Given the description of an element on the screen output the (x, y) to click on. 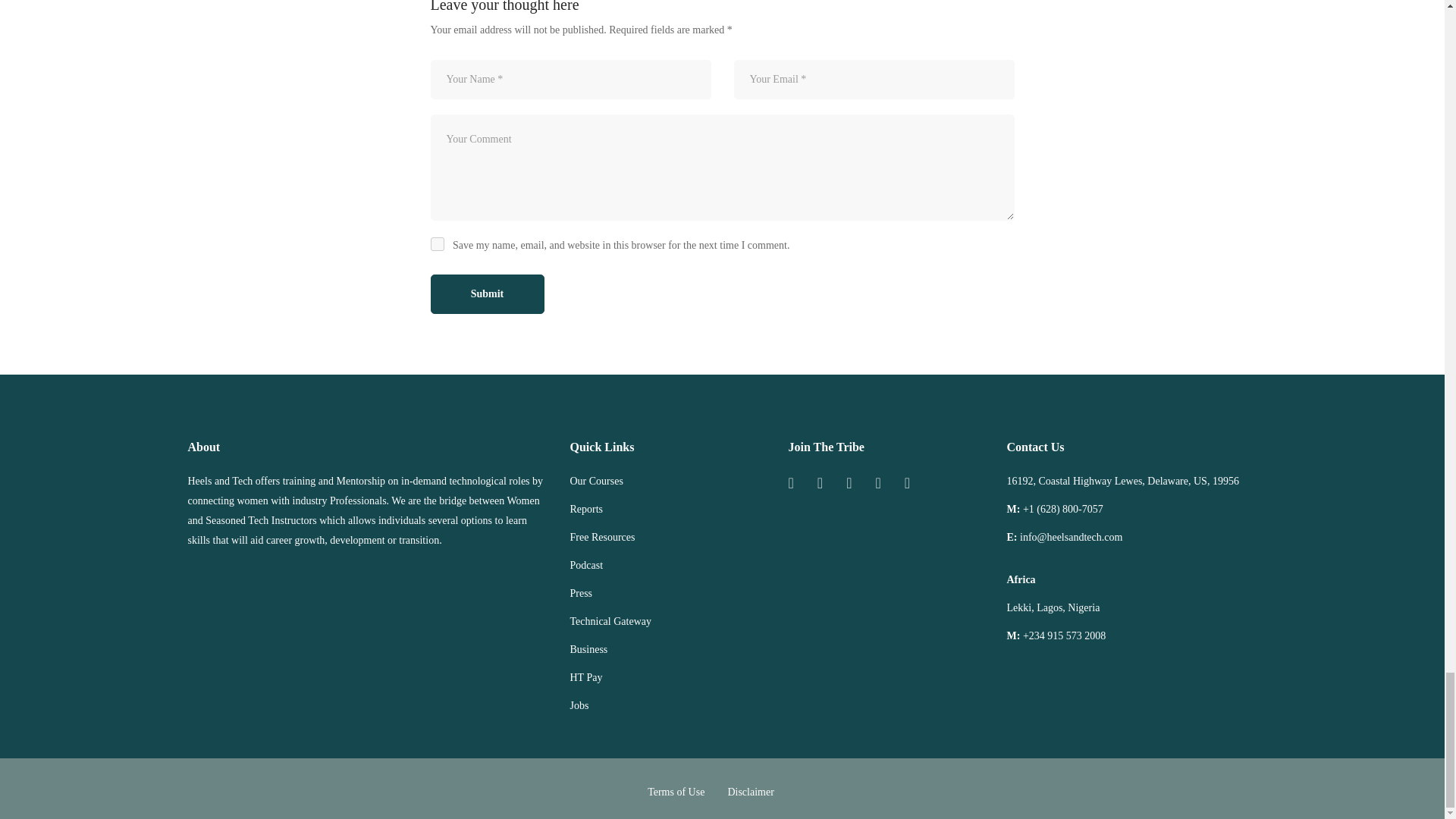
Submit (487, 293)
Free Resources (602, 537)
Our Courses (596, 481)
Reports (587, 509)
Podcast (587, 565)
Submit (487, 293)
yes (437, 243)
